Given the description of an element on the screen output the (x, y) to click on. 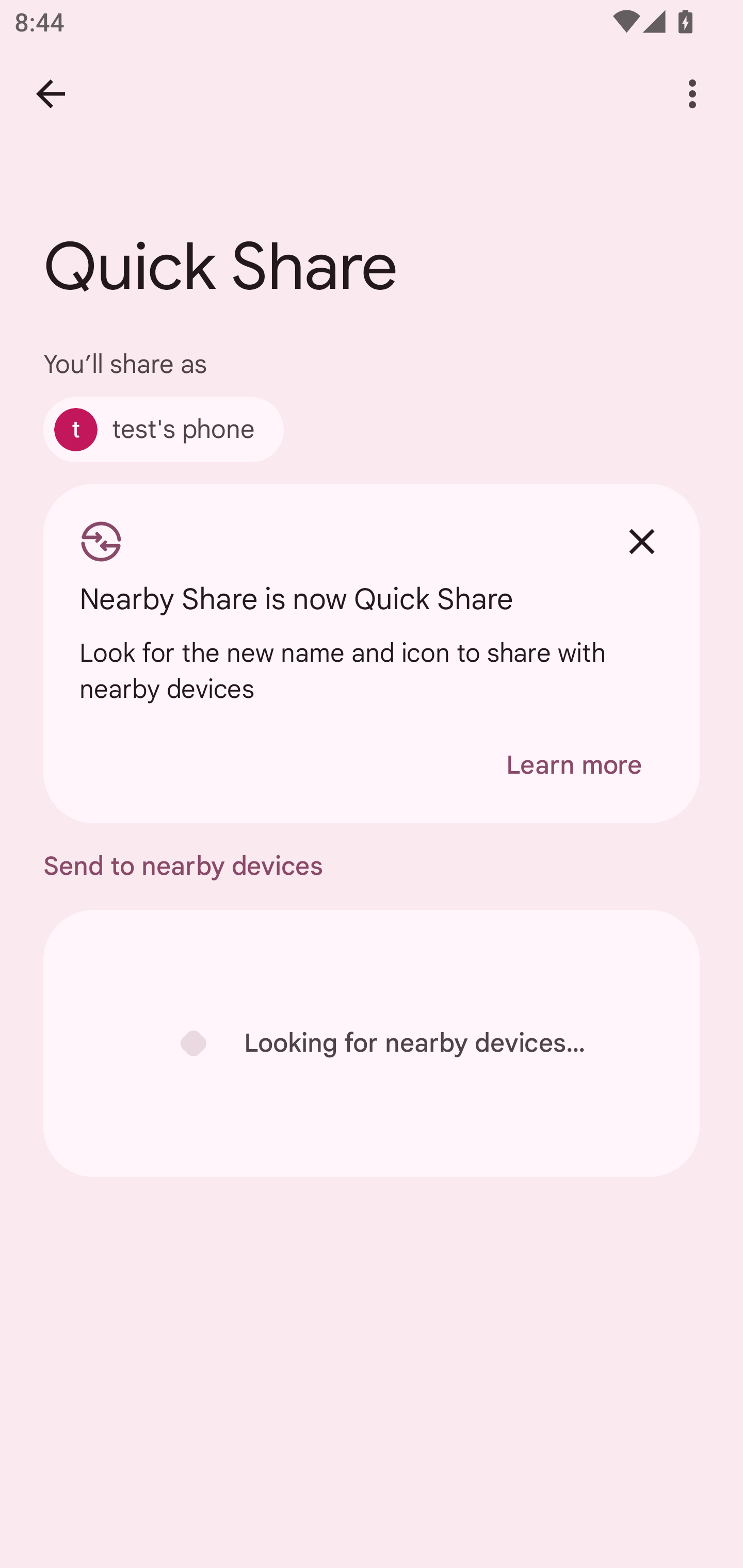
Back (50, 93)
More (692, 93)
test's phone (163, 429)
Close (641, 541)
Learn more (573, 765)
